Given the description of an element on the screen output the (x, y) to click on. 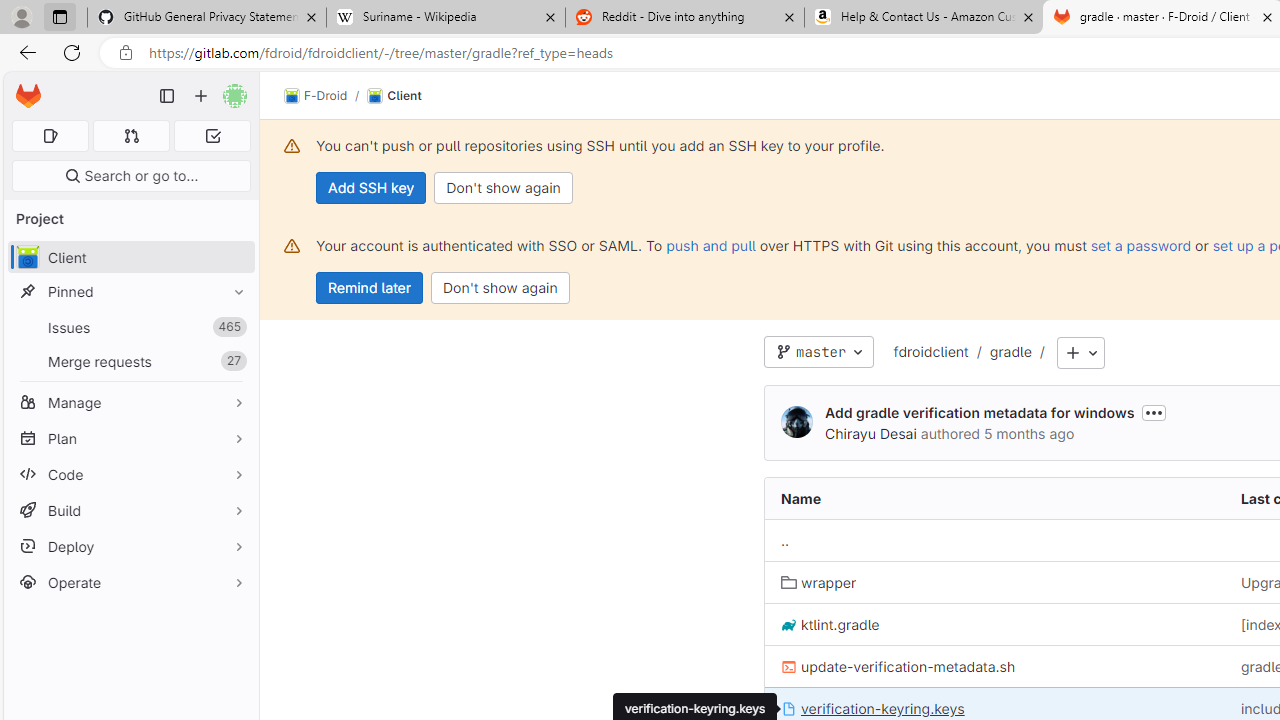
avatar (27, 257)
Add gradle verification metadata for windows (980, 412)
fdroidclient (930, 351)
F-Droid (316, 96)
Deploy (130, 546)
push and pull (710, 245)
avatar Client (130, 257)
Primary navigation sidebar (167, 96)
Client (394, 96)
Remind later (369, 287)
Client (394, 96)
